Given the description of an element on the screen output the (x, y) to click on. 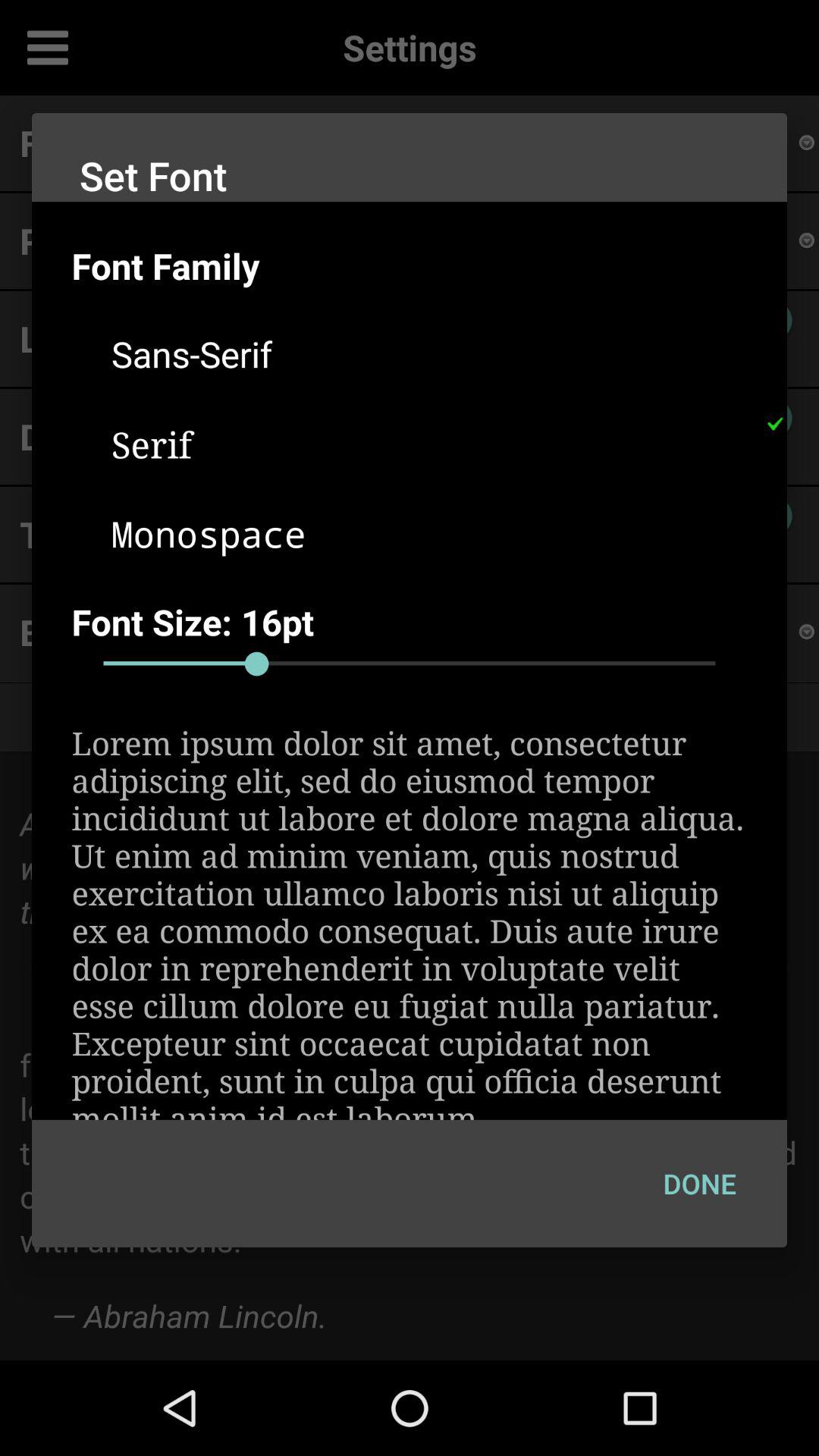
press icon below serif icon (429, 533)
